Given the description of an element on the screen output the (x, y) to click on. 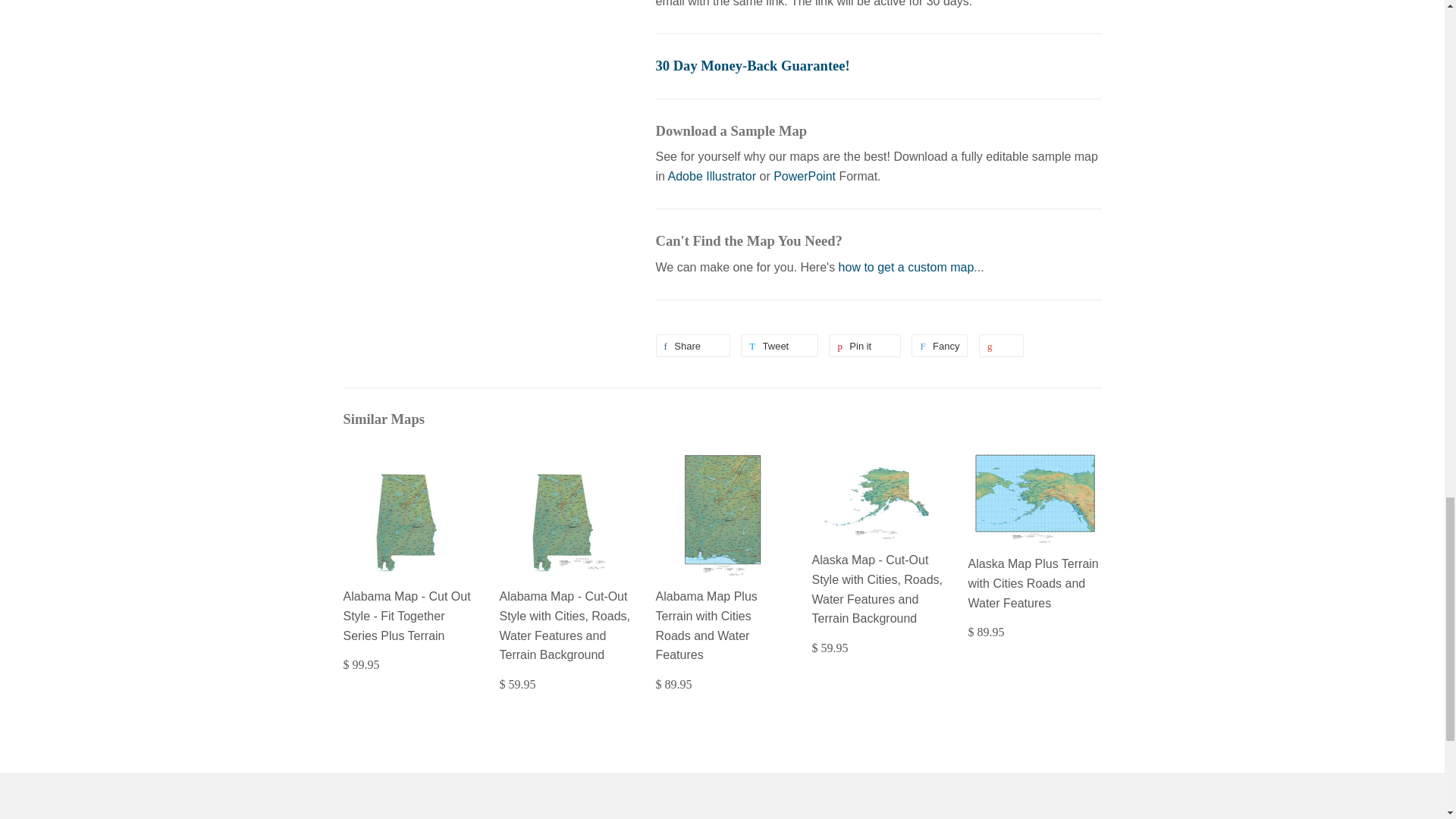
Adobe Illustrator (712, 175)
30 Day Money-Back Guarantee! (751, 65)
